Given the description of an element on the screen output the (x, y) to click on. 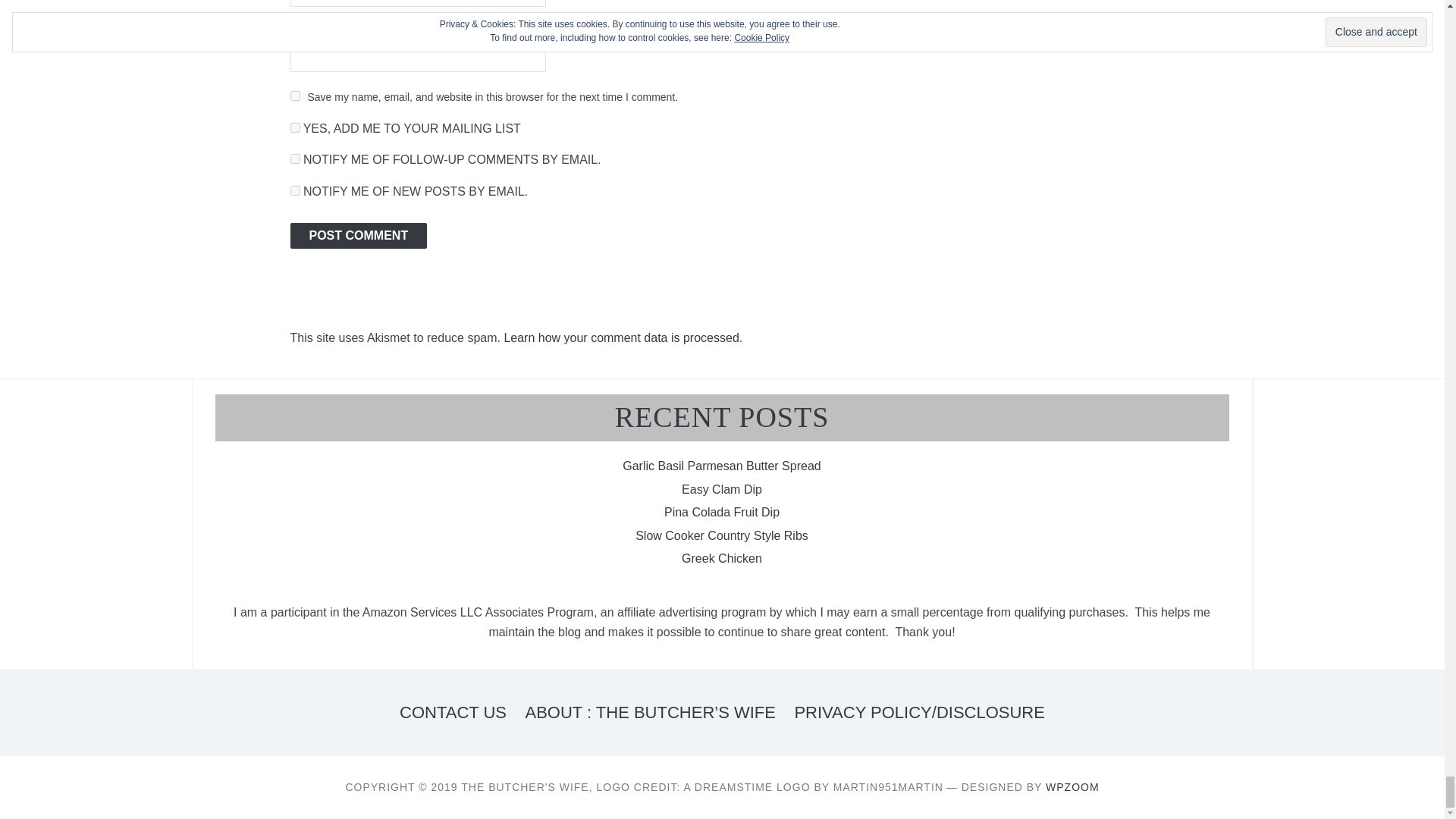
1 (294, 127)
subscribe (294, 190)
subscribe (294, 158)
Post Comment (357, 235)
yes (294, 95)
